Given the description of an element on the screen output the (x, y) to click on. 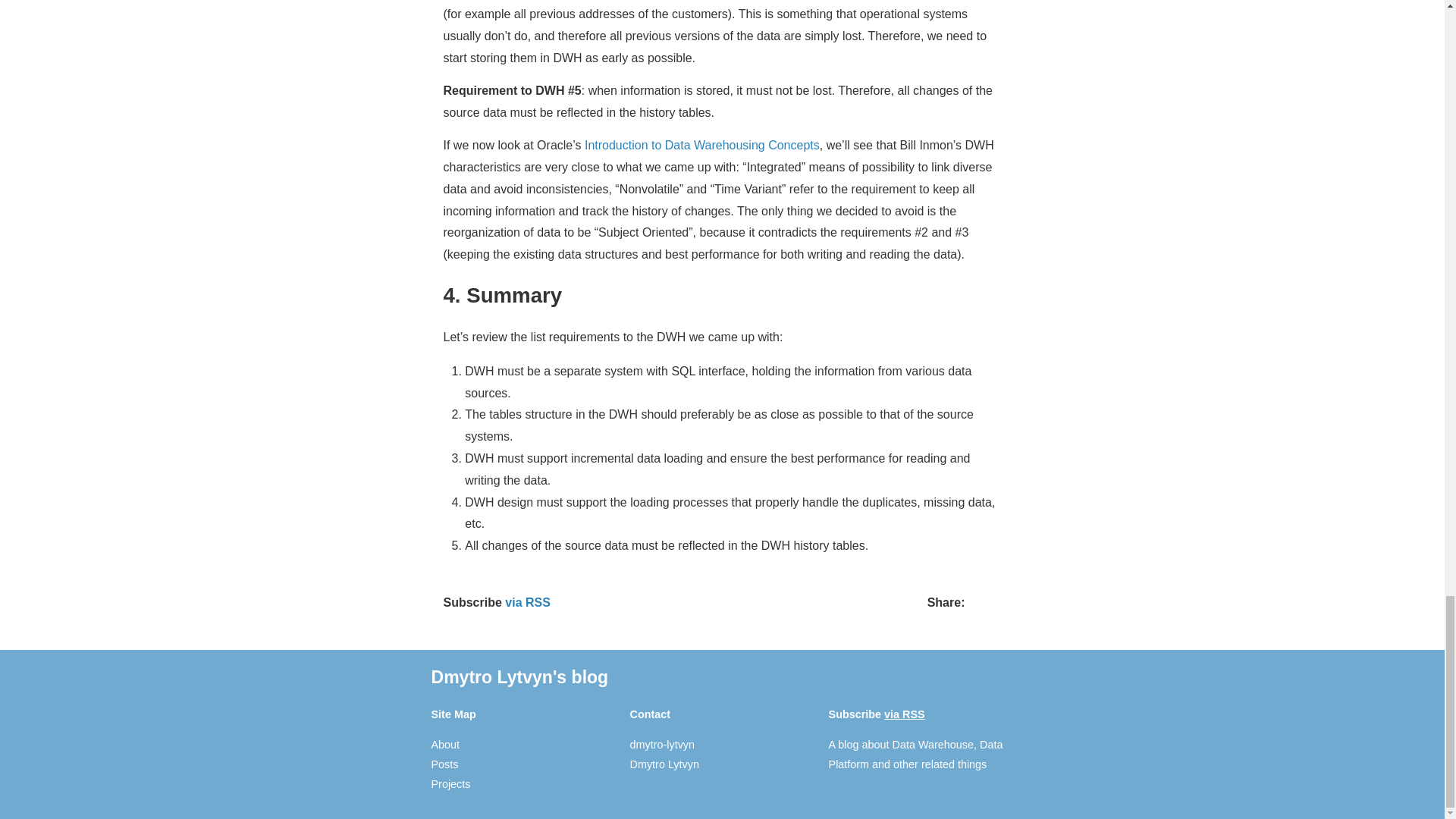
dmytro-lytvyn (662, 744)
Projects (450, 784)
Connect with me on LinkedIn (664, 764)
Introduction to Data Warehousing Concepts (702, 144)
via RSS (903, 714)
Dmytro Lytvyn (664, 764)
About (445, 744)
via RSS (527, 602)
Fork me on GitHub (662, 744)
Posts (444, 764)
